Given the description of an element on the screen output the (x, y) to click on. 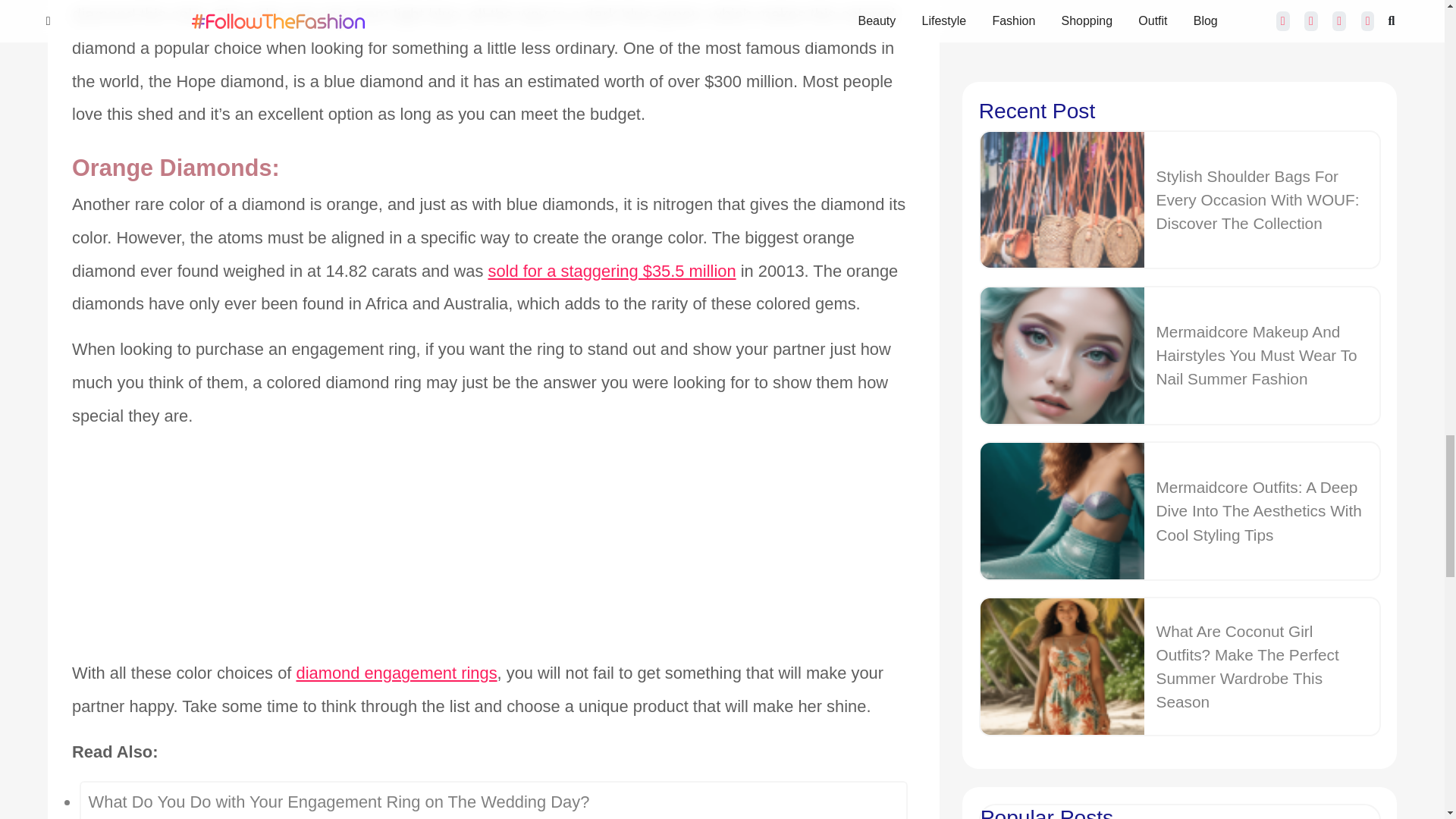
What Do You Do with Your Engagement Ring on The Wedding Day? (493, 800)
diamond engagement rings (395, 673)
